Given the description of an element on the screen output the (x, y) to click on. 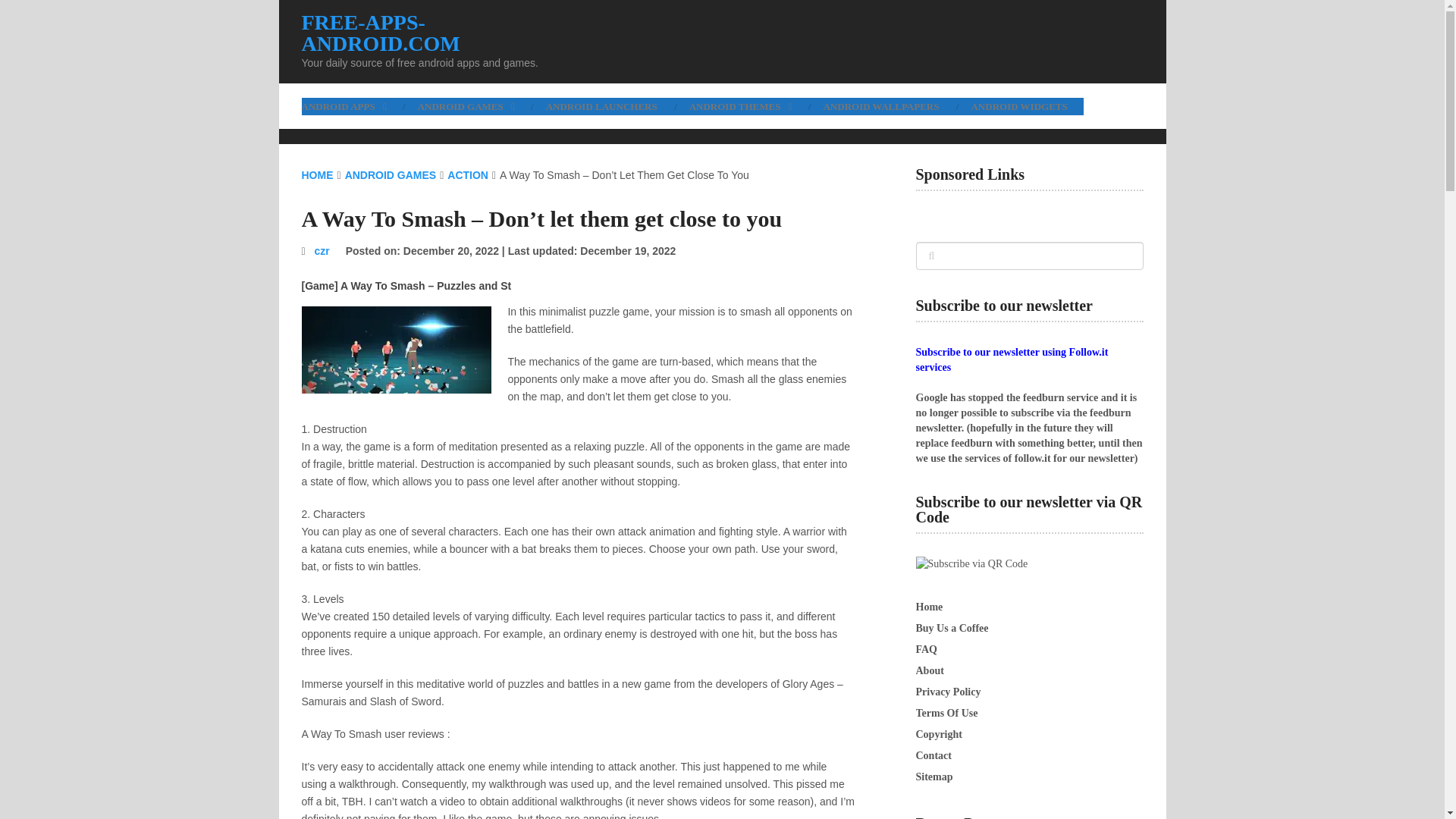
Posts by czr (322, 250)
ANDROID GAMES (465, 105)
ANDROID APPS (351, 105)
FREE-APPS-ANDROID.COM (441, 33)
